Given the description of an element on the screen output the (x, y) to click on. 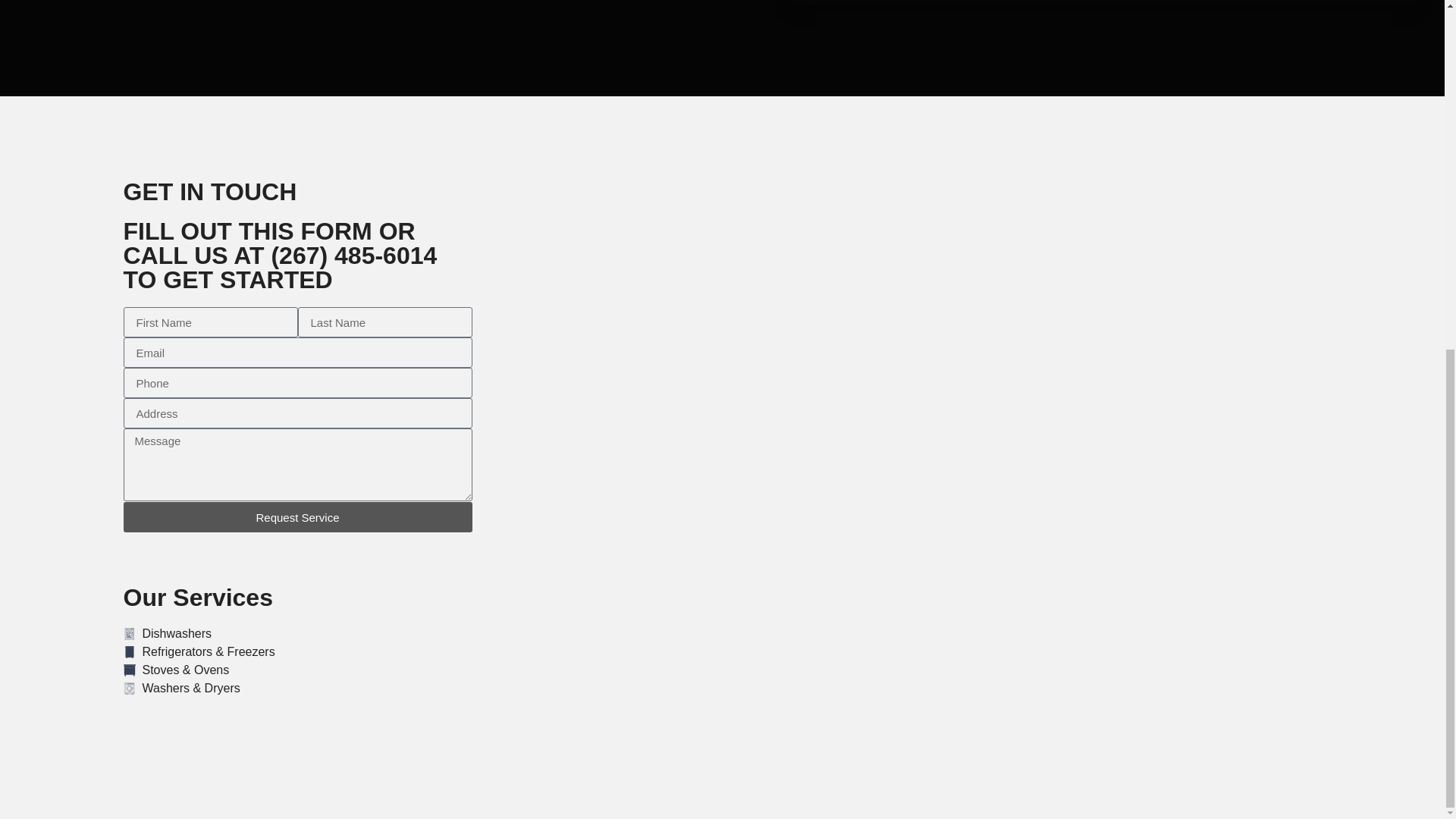
Request Service (296, 517)
Dishwashers (296, 633)
